Given the description of an element on the screen output the (x, y) to click on. 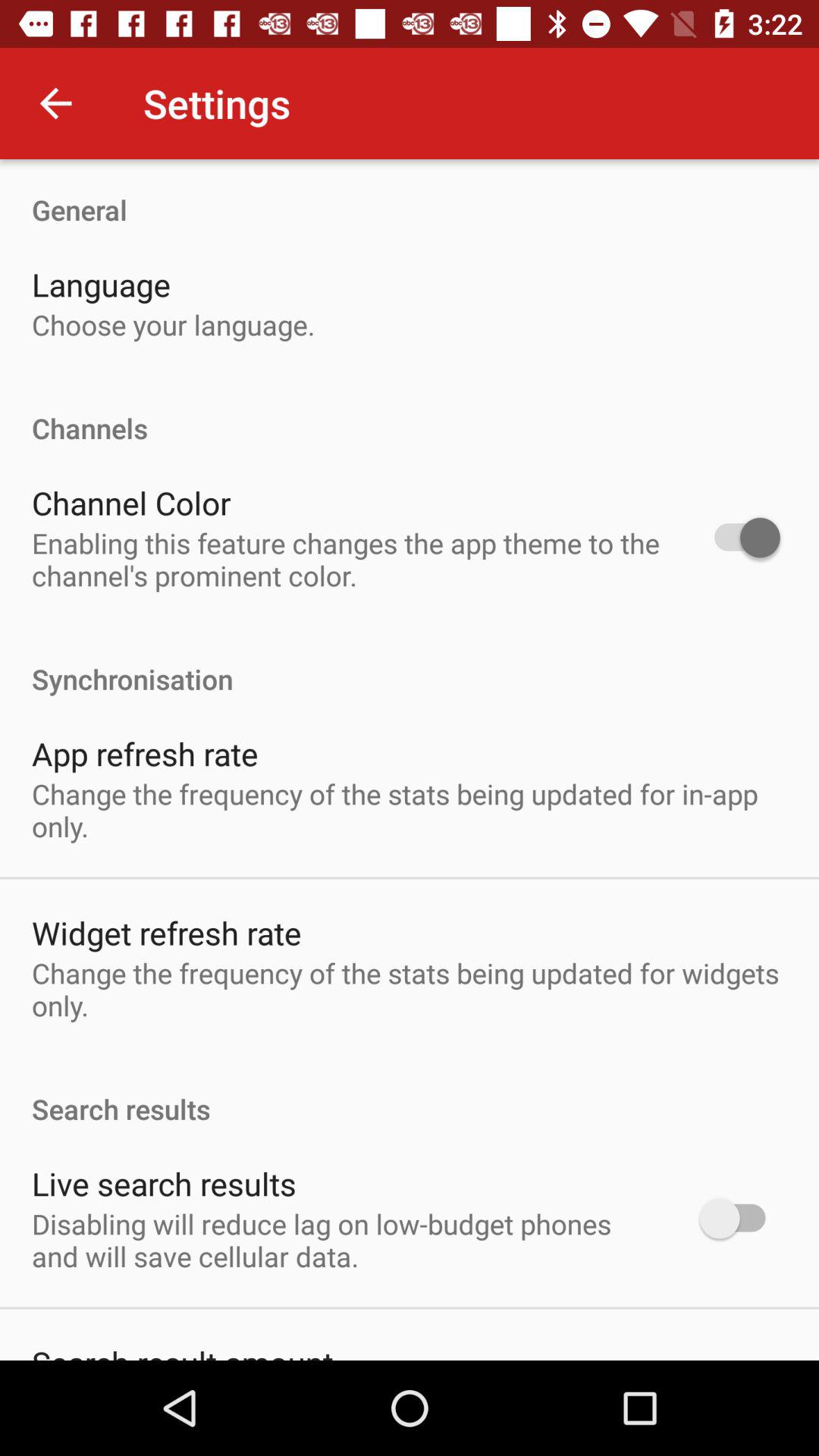
turn on icon below channel color item (345, 559)
